Given the description of an element on the screen output the (x, y) to click on. 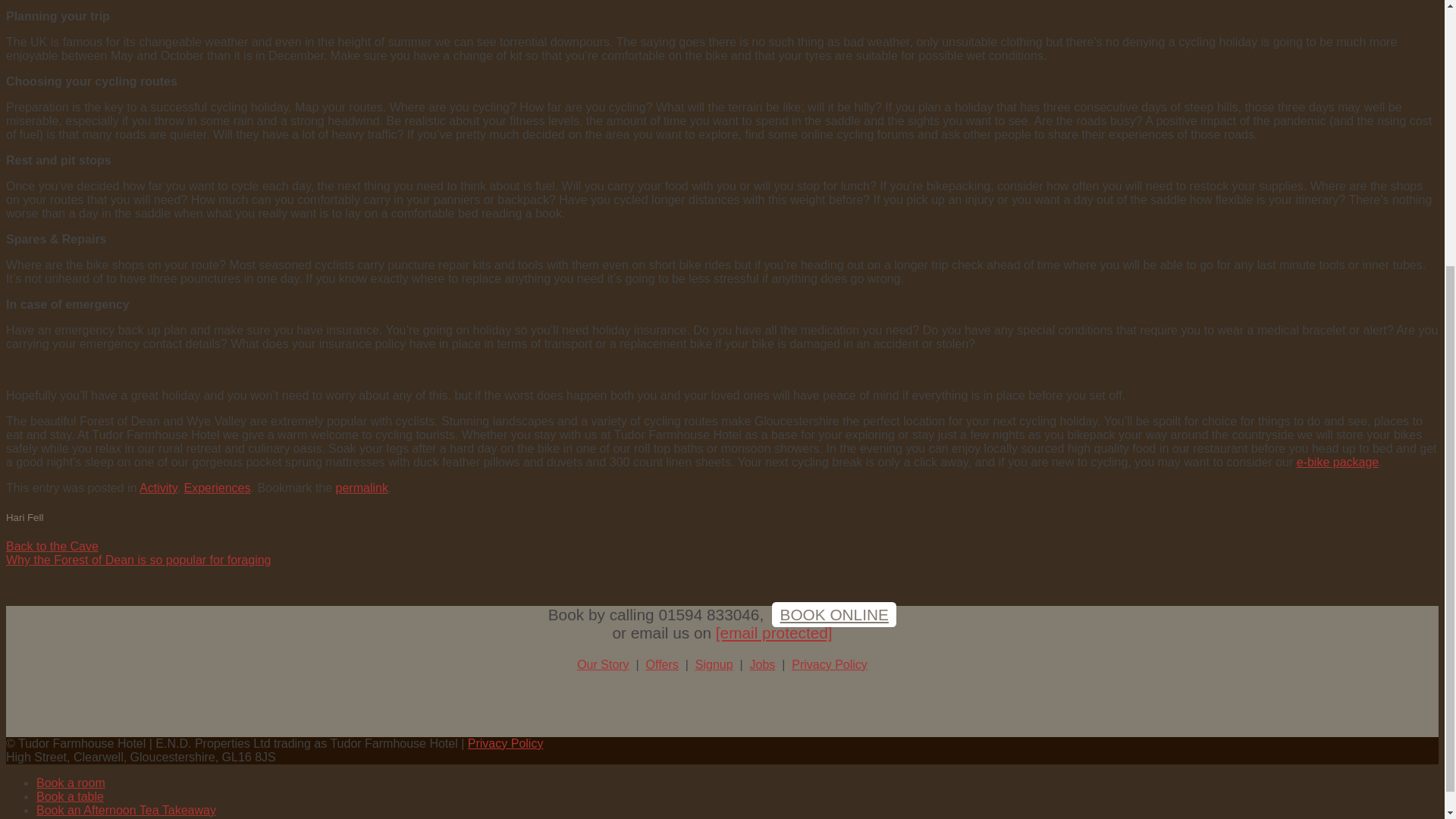
Jobs (762, 664)
Privacy Policy (829, 664)
BOOK ONLINE (833, 614)
Why the Forest of Dean is so popular for foraging (137, 559)
Experiences (216, 487)
permalink (362, 487)
Signup (714, 664)
Privacy Policy (505, 743)
Back to the Cave (52, 545)
Permalink to How to Plan Your Next UK Cycling Holiday (362, 487)
